Given the description of an element on the screen output the (x, y) to click on. 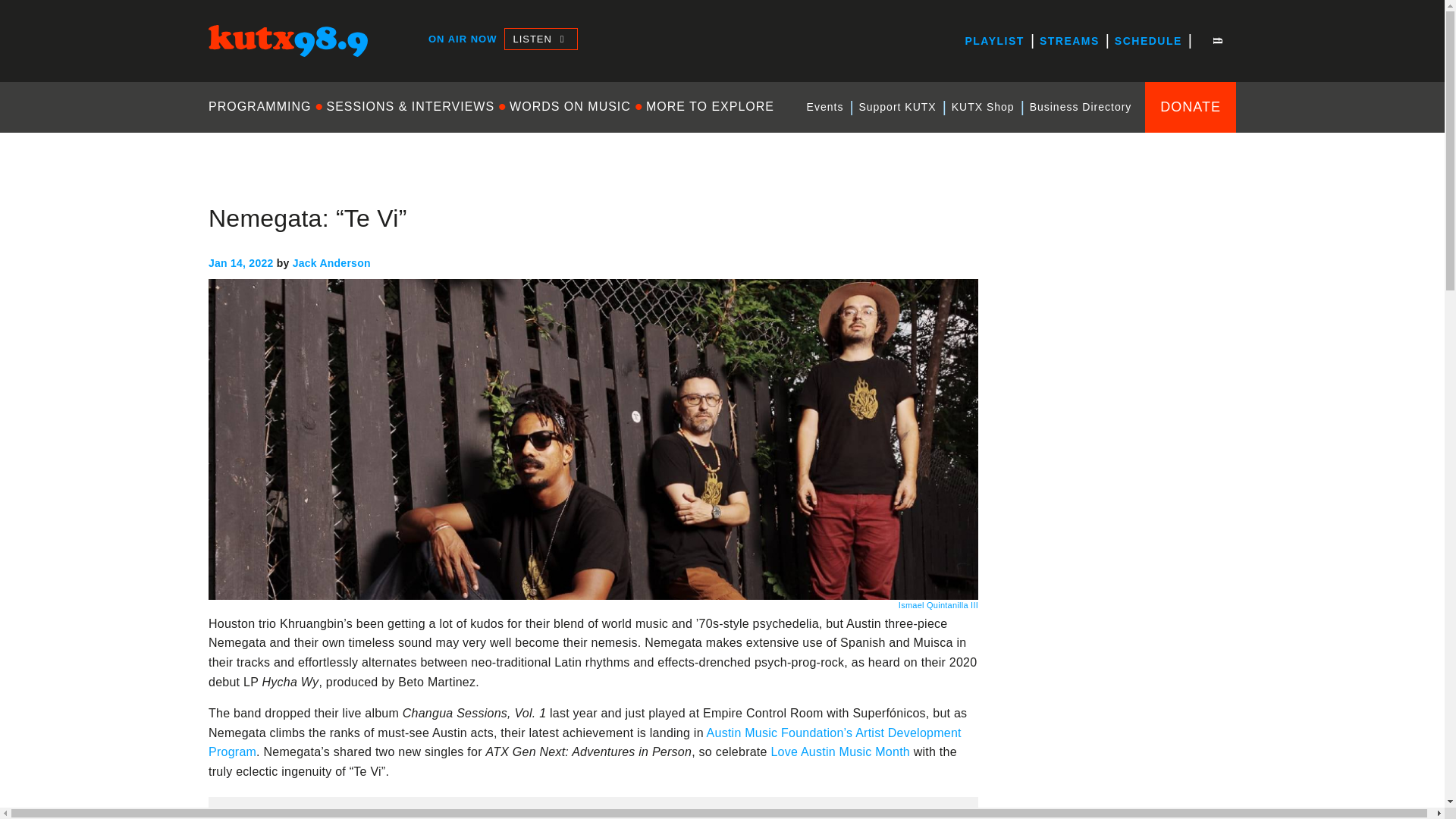
Business Directory (1081, 106)
PLAYLIST (993, 40)
MORE TO EXPLORE (710, 106)
STREAMS (1069, 40)
KUTX (224, 69)
DONATE (1190, 106)
Events (825, 106)
KUTX Shop (982, 106)
Support KUTX (896, 106)
PROGRAMMING (263, 106)
